Given the description of an element on the screen output the (x, y) to click on. 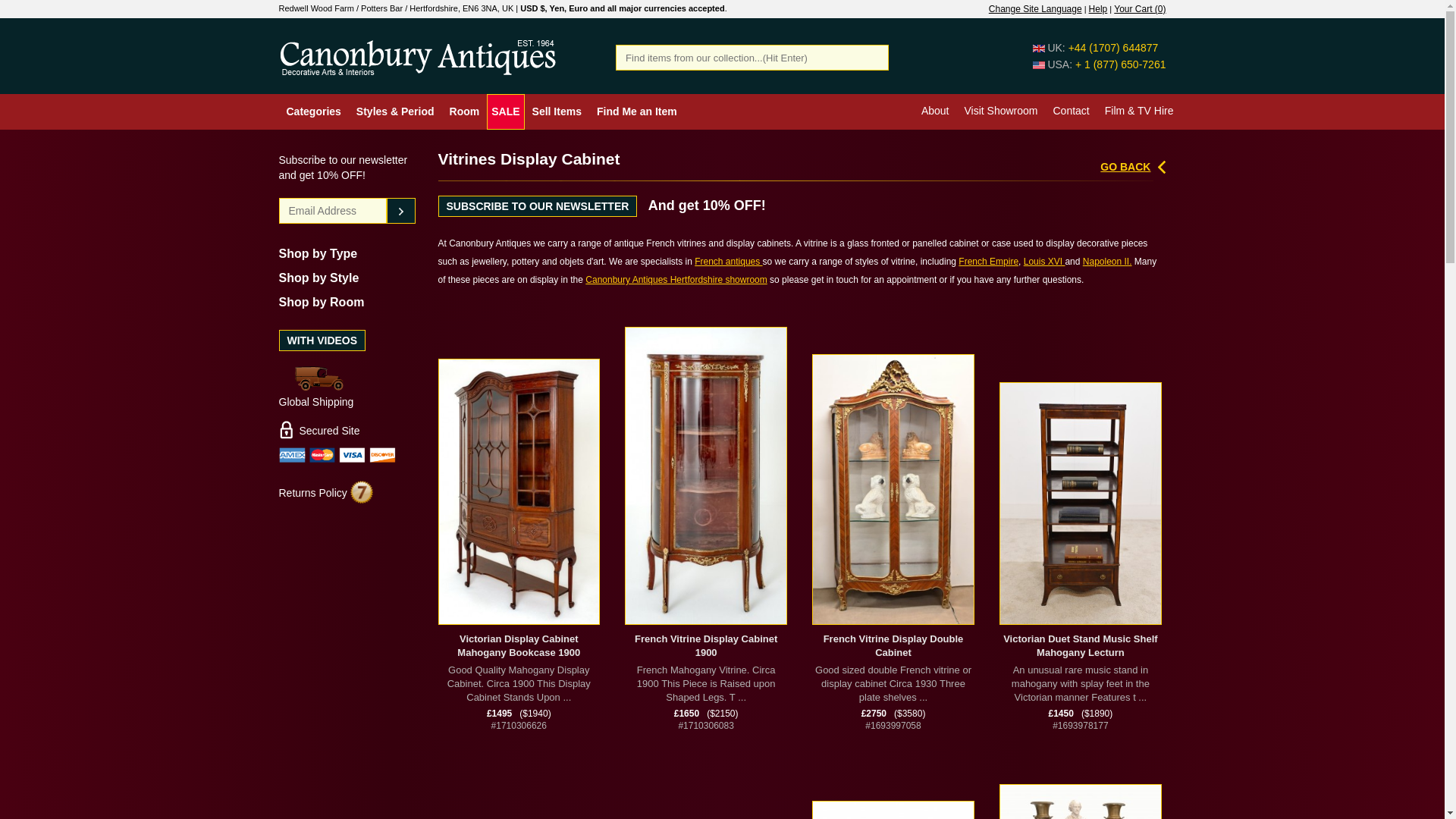
Shop by Type (318, 253)
Help (1098, 9)
Sell Items (556, 111)
Contact (1067, 110)
About (931, 110)
Find Me an Item (636, 111)
Room (464, 111)
Visit Showroom (996, 110)
Change Site Language (1034, 9)
Categories (314, 111)
SALE (505, 111)
